Given the description of an element on the screen output the (x, y) to click on. 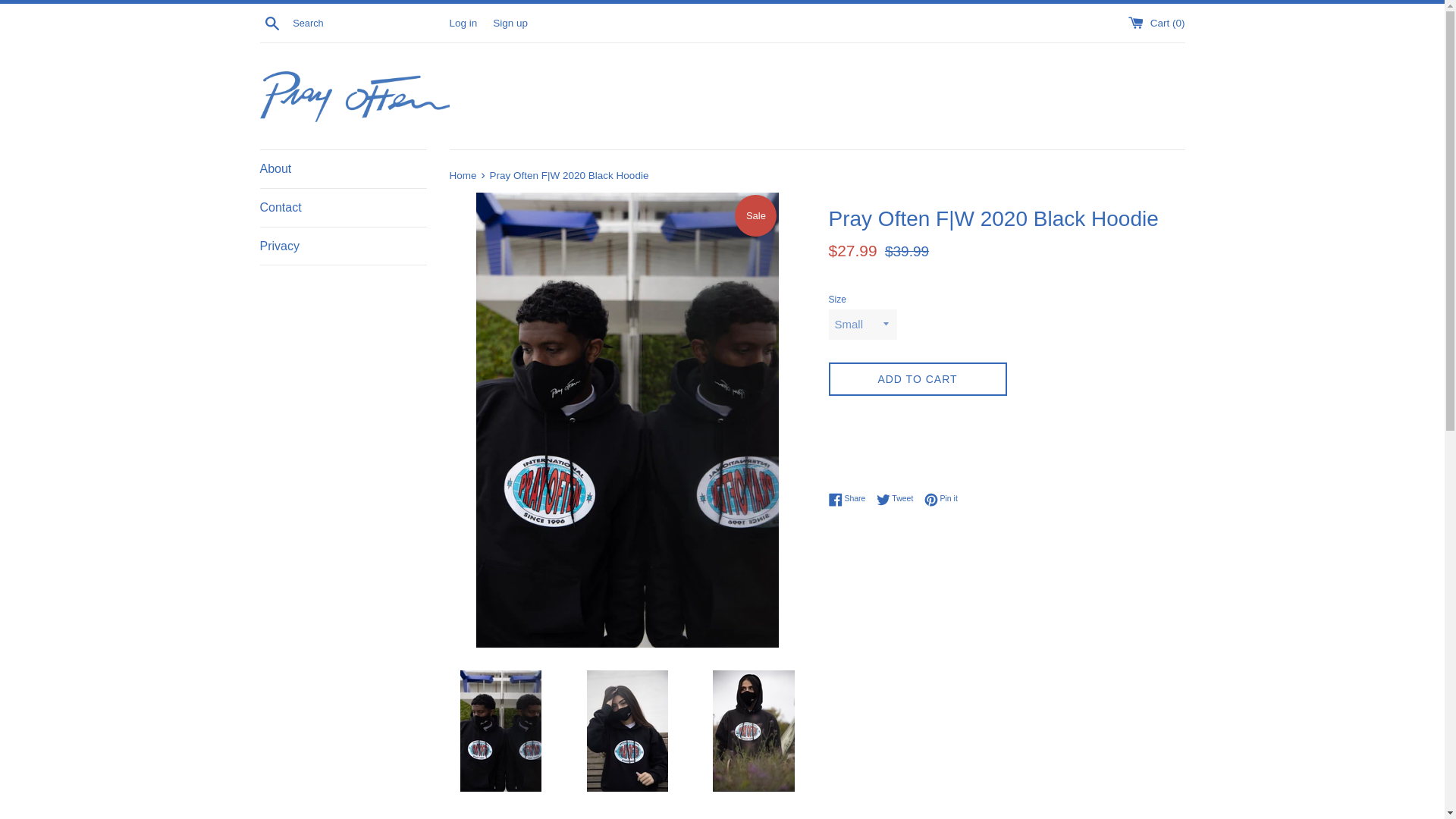
Tweet on Twitter (898, 499)
ADD TO CART (917, 379)
Pin on Pinterest (941, 499)
Log in (462, 21)
Share on Facebook (850, 499)
Home (850, 499)
About (463, 174)
